Given the description of an element on the screen output the (x, y) to click on. 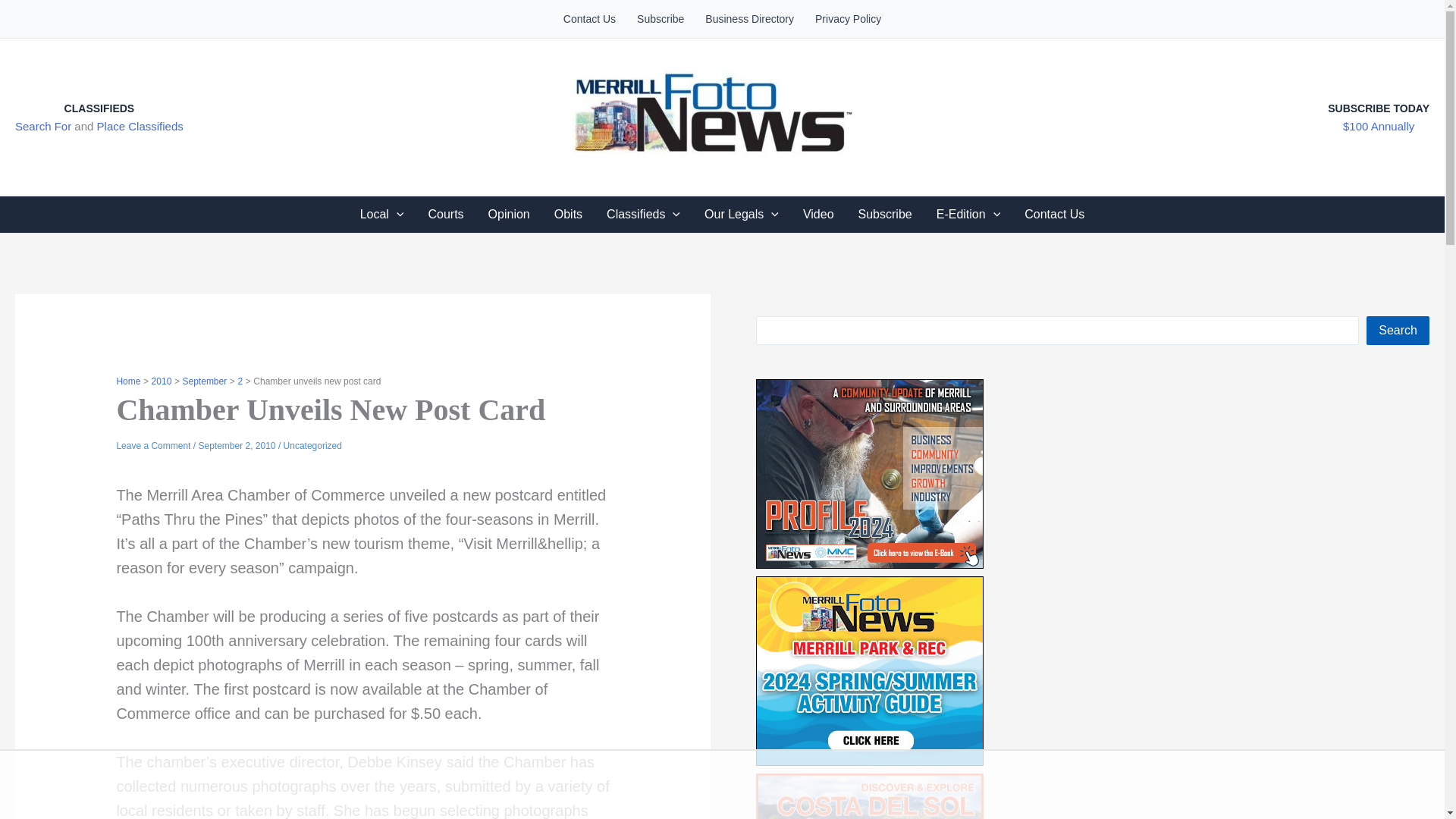
Local (381, 214)
Search For (42, 125)
Contact Us (589, 18)
Place Classifieds (140, 125)
Courts (445, 214)
Subscribe (884, 214)
Our Legals (741, 214)
Subscribe (660, 18)
Video (817, 214)
Opinion (508, 214)
Business Directory (749, 18)
Obits (567, 214)
E-Edition (968, 214)
Privacy Policy (848, 18)
